Given the description of an element on the screen output the (x, y) to click on. 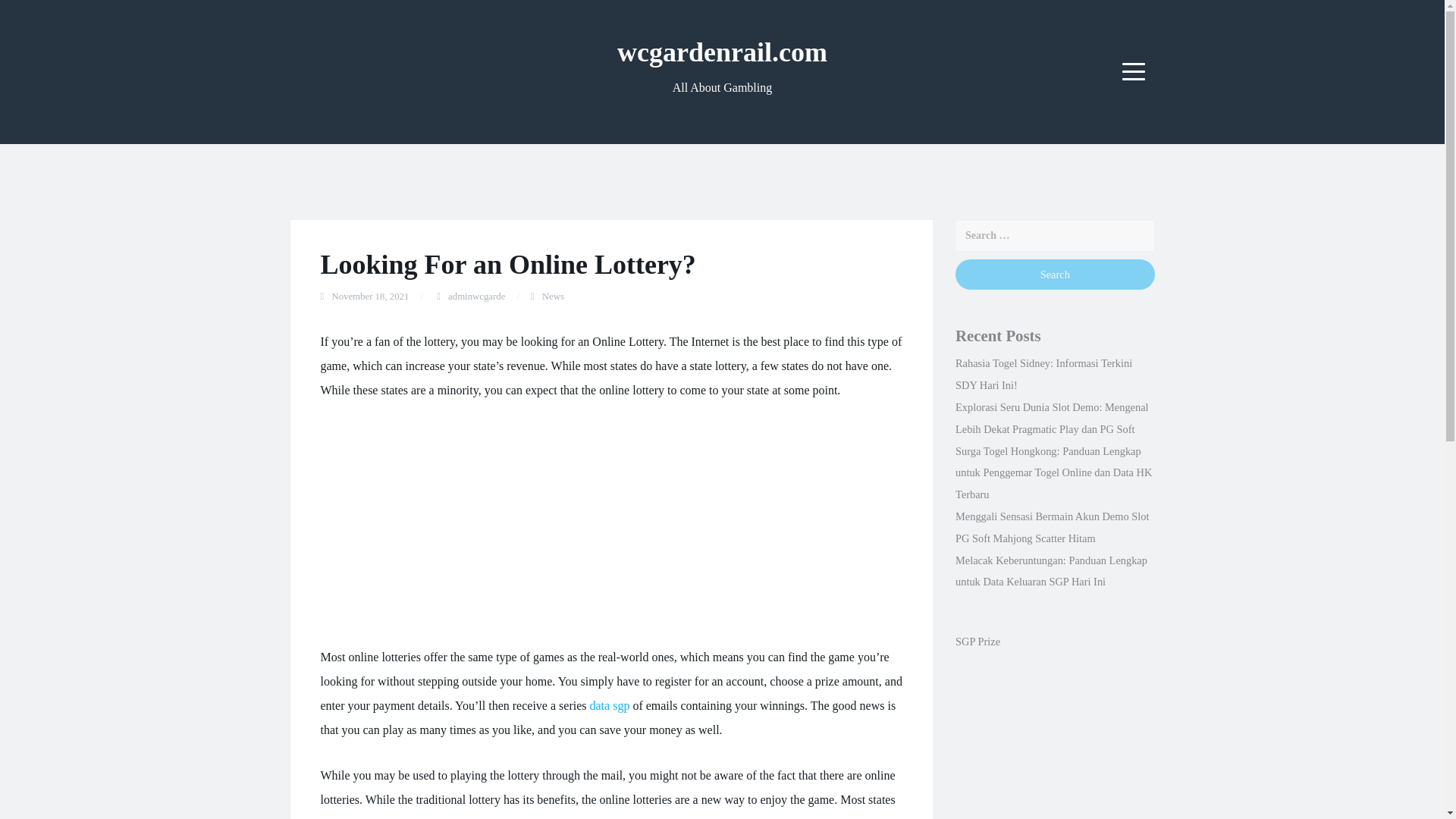
SGP Prize (977, 641)
adminwcgarde (476, 296)
November 18, 2021 (370, 296)
Rahasia Togel Sidney: Informasi Terkini SDY Hari Ini! (1043, 374)
Search (1054, 274)
wcgardenrail.com (722, 51)
News (552, 296)
Search (1054, 274)
data sgp (609, 705)
Menu (1133, 71)
Search (1054, 274)
